Given the description of an element on the screen output the (x, y) to click on. 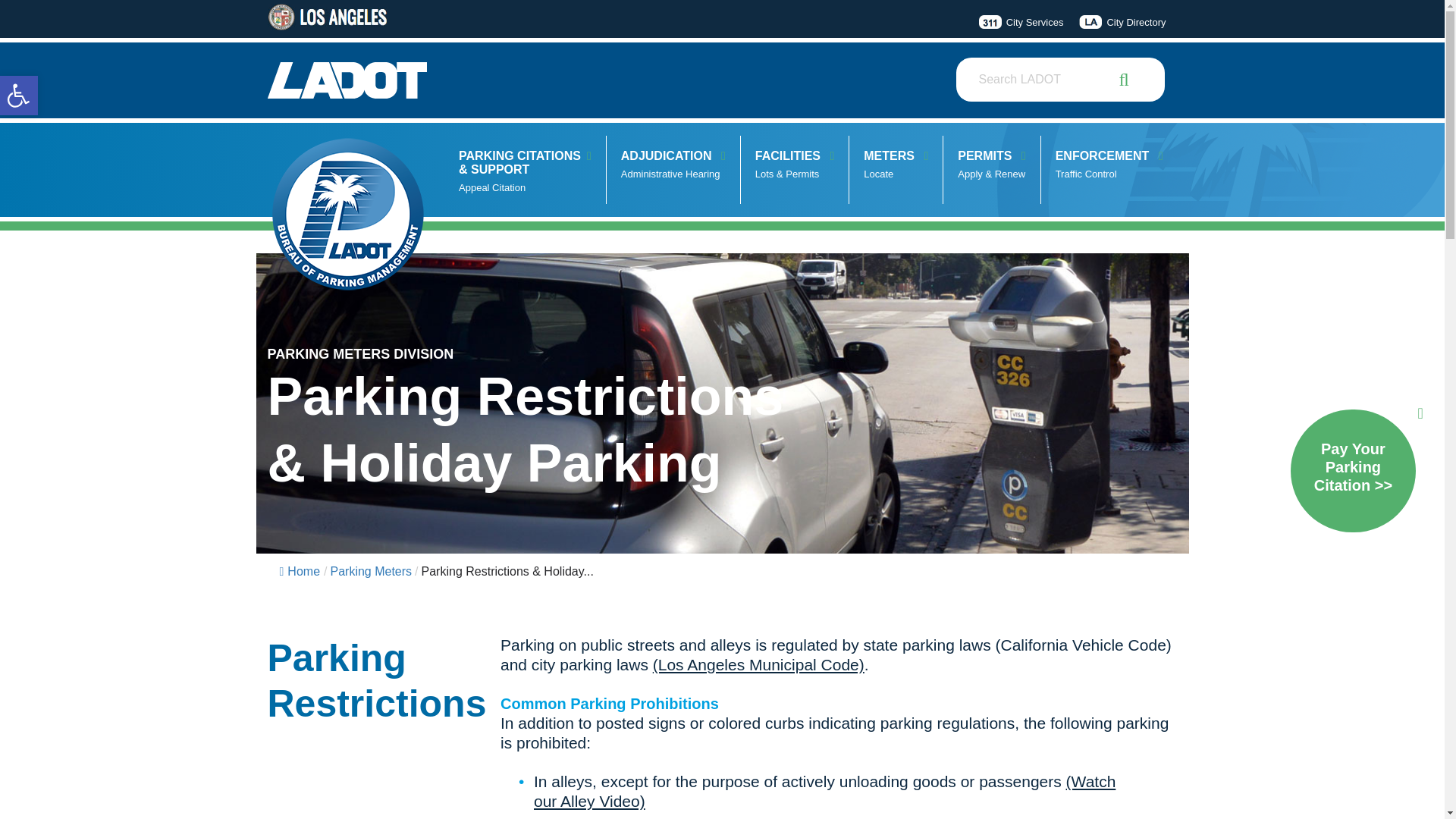
Accessibility Tools (18, 95)
PERMITS  (18, 95)
ENFORCEMENT  (991, 169)
Accessibility Tools (1109, 169)
Parking Meters (17, 95)
METERS  (371, 571)
City Directory (673, 169)
ADJUDICATION (895, 169)
City Services (1120, 22)
OPERATIONS  (673, 169)
FACILITIES  (1019, 22)
